Given the description of an element on the screen output the (x, y) to click on. 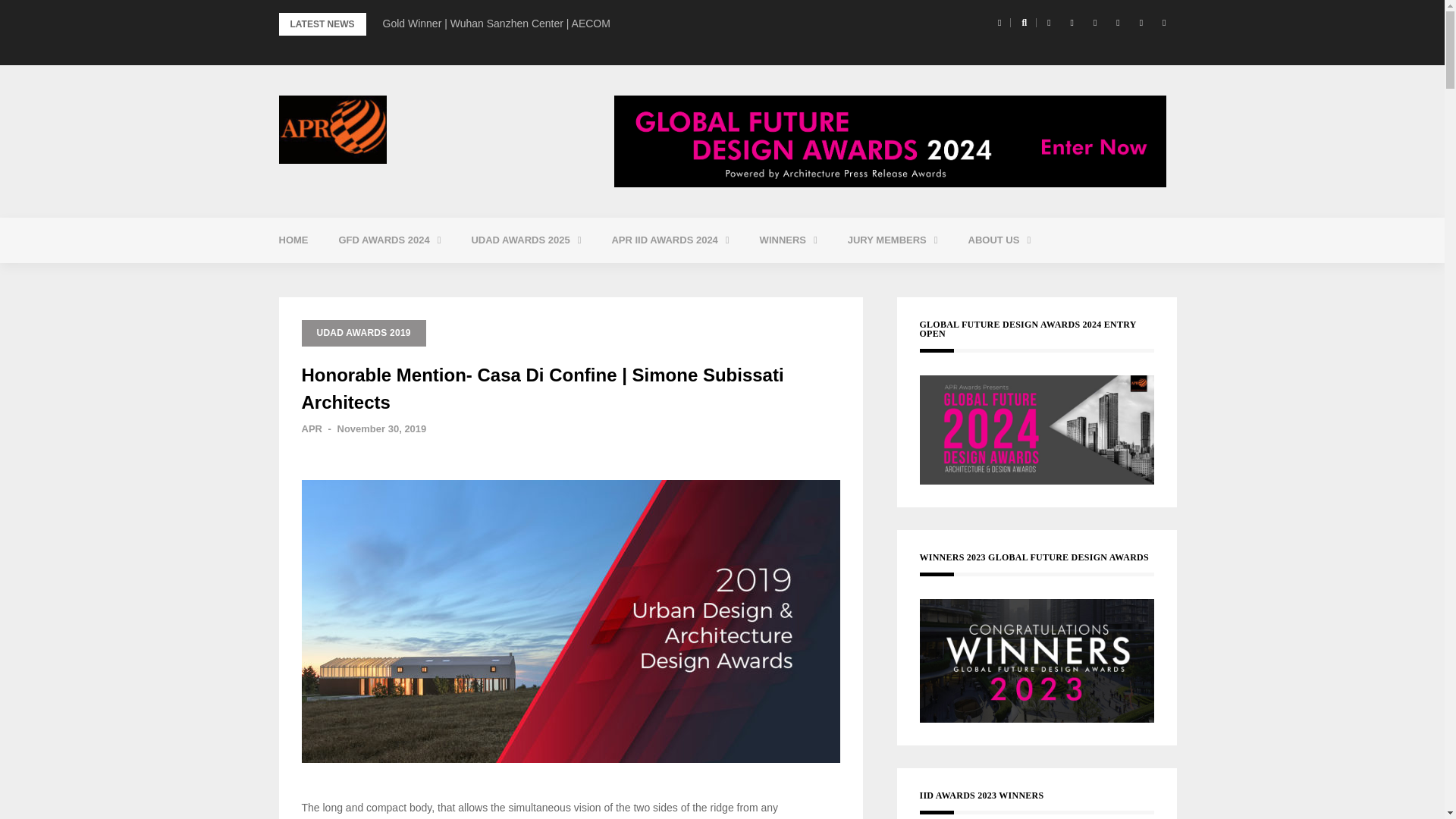
Home (293, 239)
GFD AWARDS 2024 (389, 239)
HOME (293, 239)
GFD Awards Brief (425, 277)
